Given the description of an element on the screen output the (x, y) to click on. 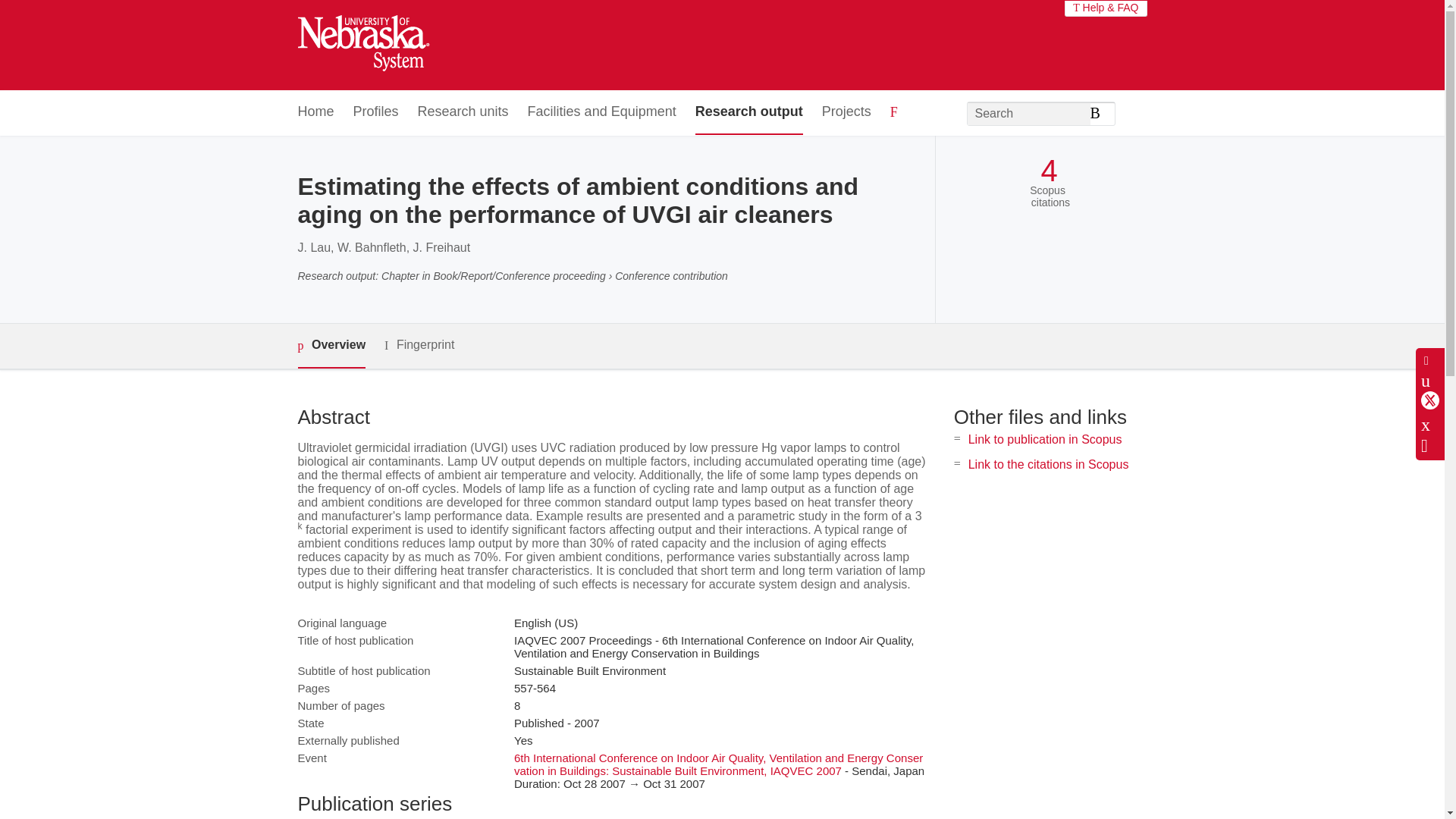
Research units (462, 112)
Overview (331, 345)
Research Nebraska Home (363, 45)
Link to the citations in Scopus (1048, 463)
Fingerprint (419, 344)
Facilities and Equipment (602, 112)
Profiles (375, 112)
Projects (846, 112)
Research output (749, 112)
Link to publication in Scopus (1045, 439)
